Given the description of an element on the screen output the (x, y) to click on. 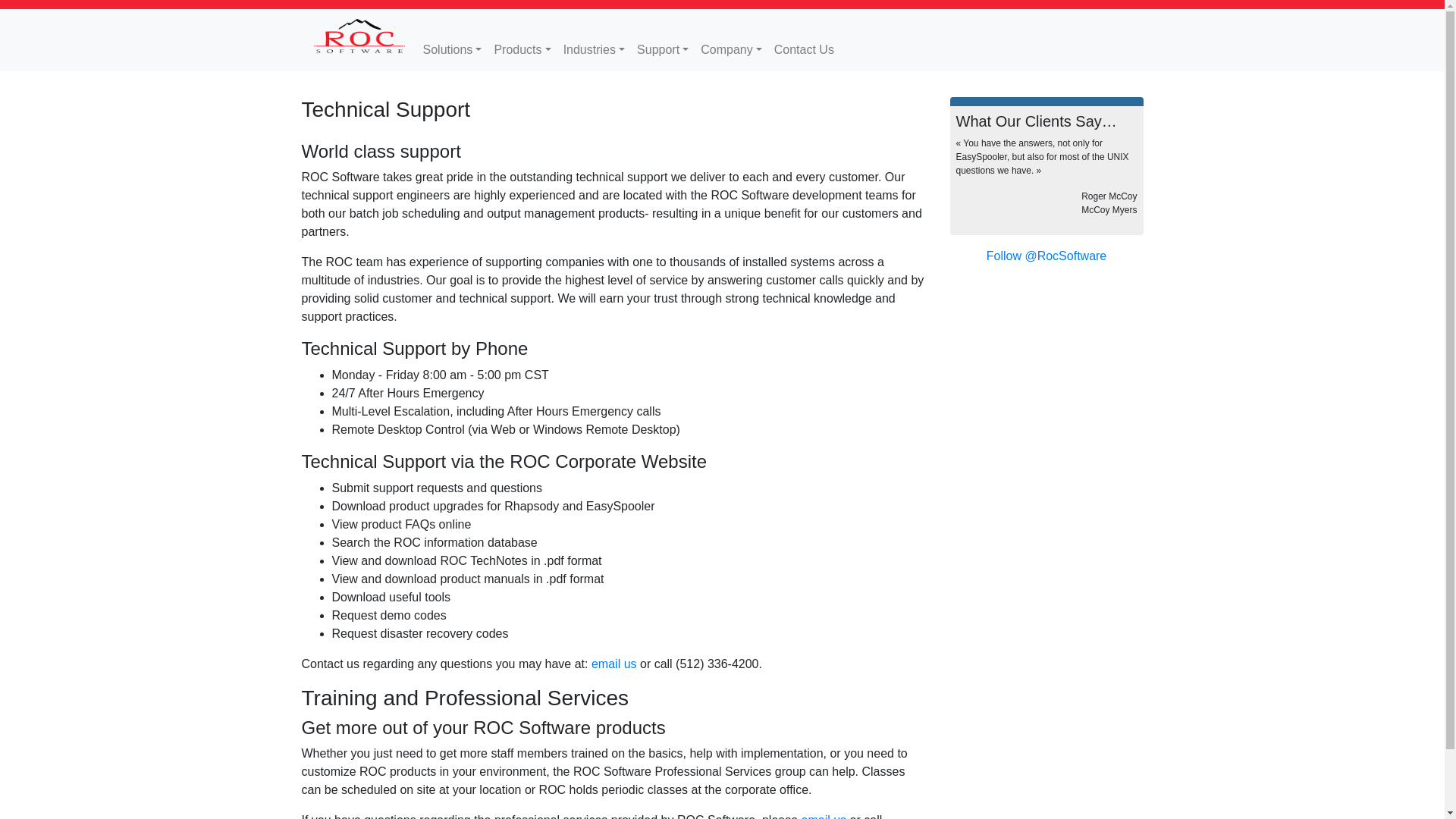
Industries (593, 50)
Support (662, 50)
email us (614, 663)
email us (824, 816)
Products (521, 50)
Contact Us (804, 50)
Solutions (451, 50)
Company (731, 50)
